Given the description of an element on the screen output the (x, y) to click on. 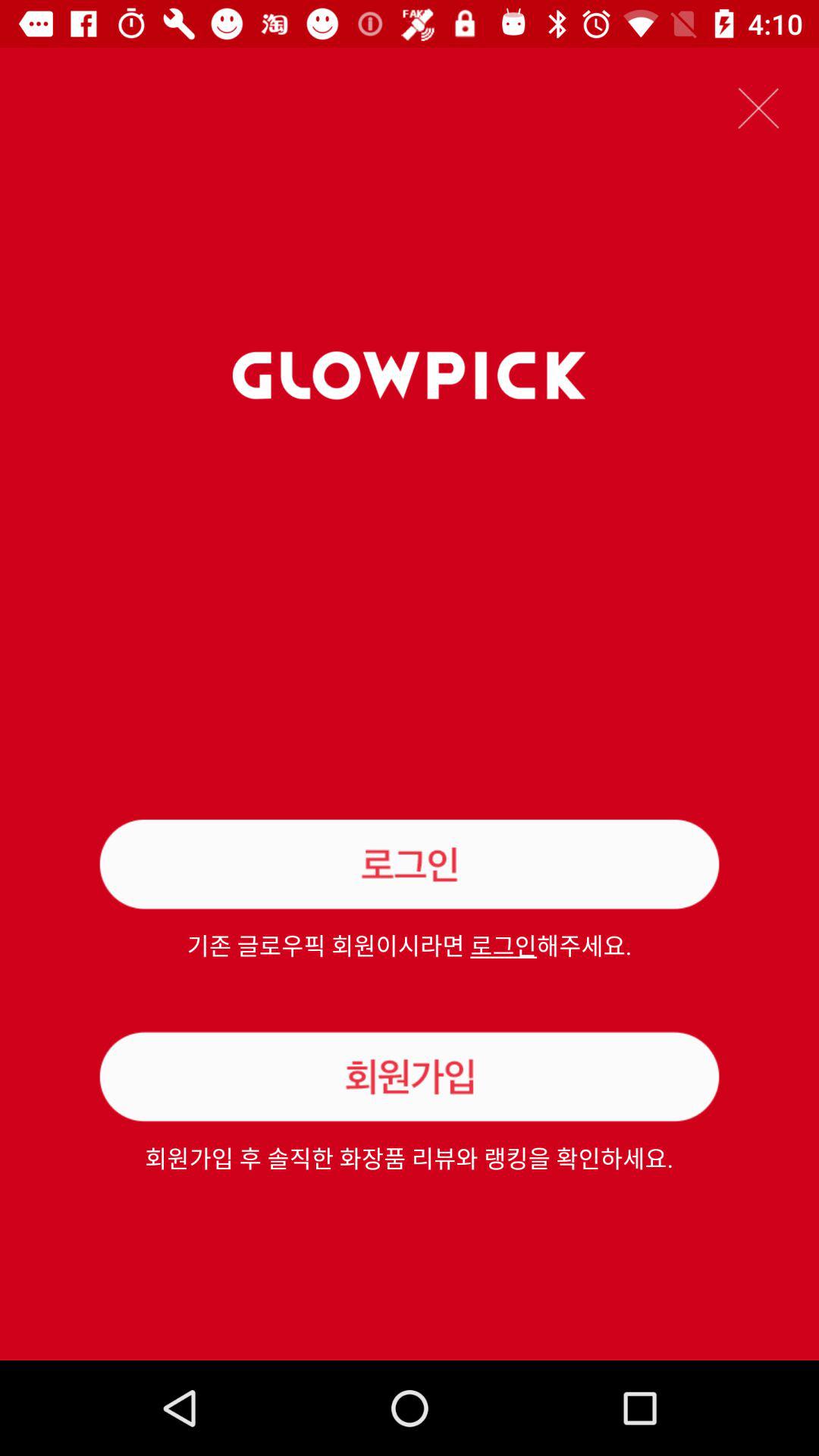
select icon at the top right corner (758, 107)
